Given the description of an element on the screen output the (x, y) to click on. 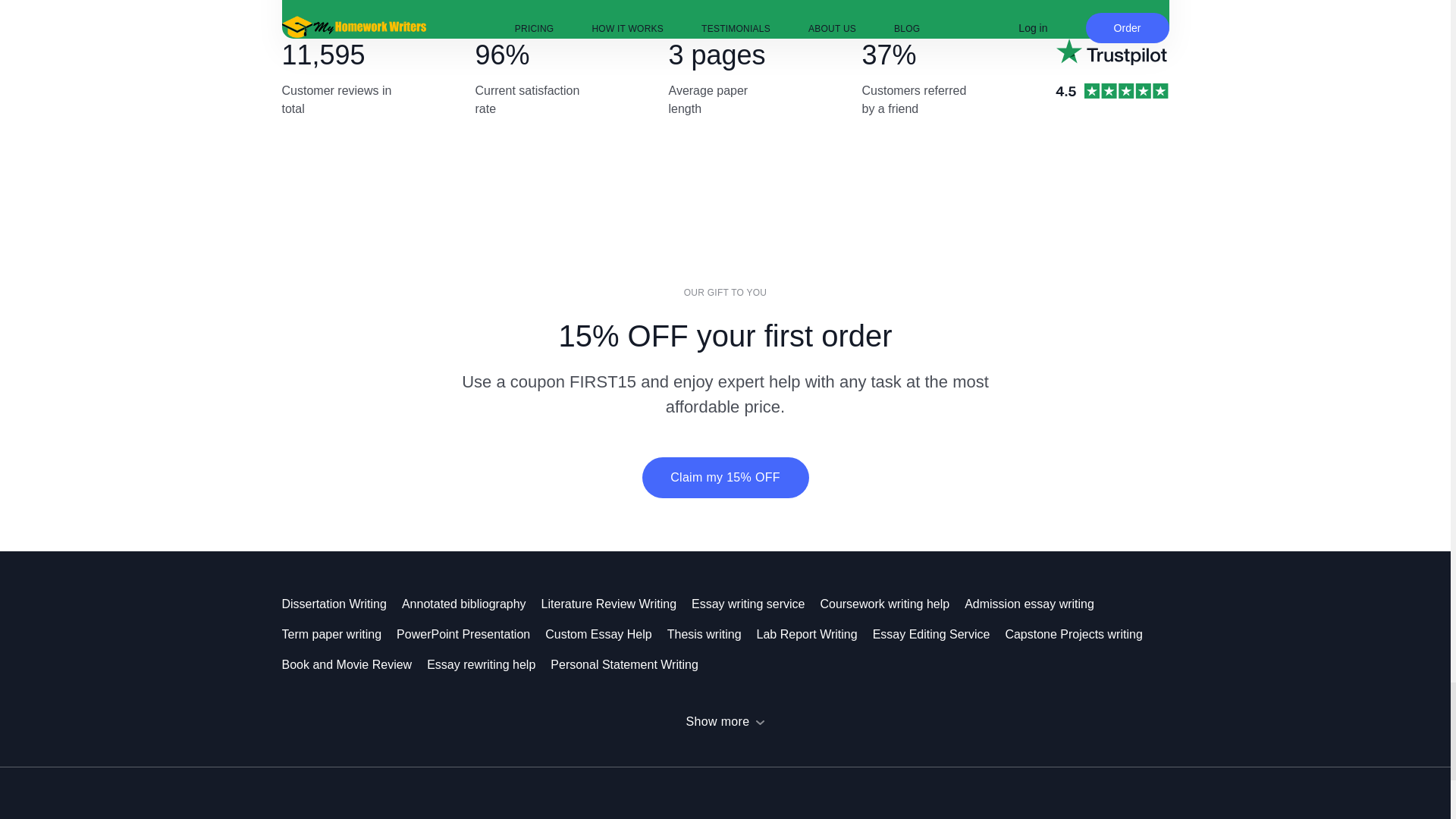
Capstone Projects writing (1080, 634)
Thesis writing (711, 634)
PowerPoint Presentation (470, 634)
Show more (725, 721)
Literature Review Writing (616, 603)
Essay Editing Service (939, 634)
Book and Movie Review (355, 664)
Essay writing service (755, 603)
Admission essay writing (1036, 603)
Personal Statement Writing (631, 664)
